Given the description of an element on the screen output the (x, y) to click on. 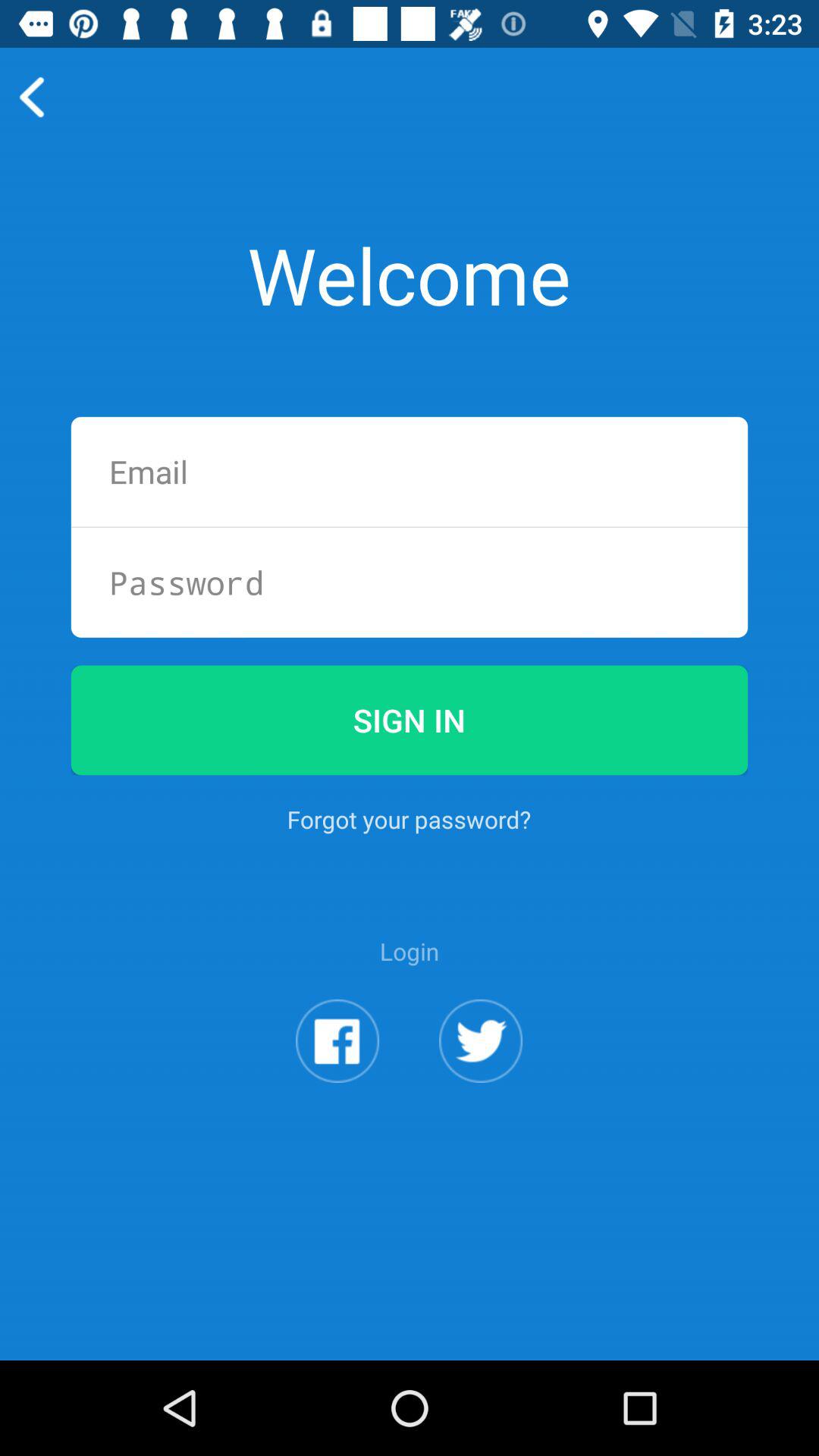
click button below the sign in item (409, 819)
